Given the description of an element on the screen output the (x, y) to click on. 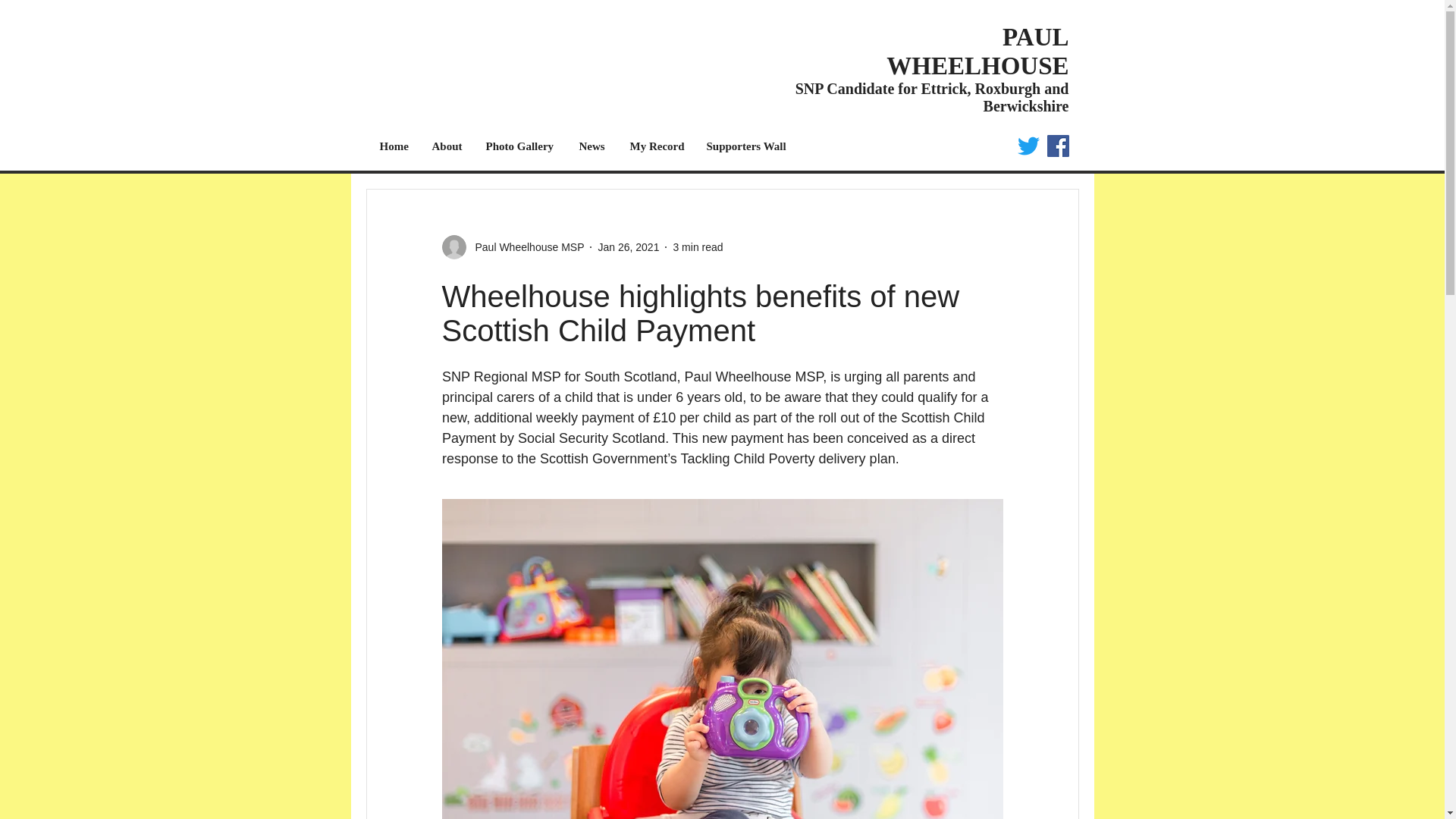
Supporters Wall (745, 146)
3 min read (697, 246)
Tackling Child Poverty delivery plan (787, 458)
Paul Wheelhouse MSP (524, 247)
My Record (656, 146)
About (446, 146)
Photo Gallery (520, 146)
Home (394, 146)
Jan 26, 2021 (627, 246)
News (592, 146)
